Given the description of an element on the screen output the (x, y) to click on. 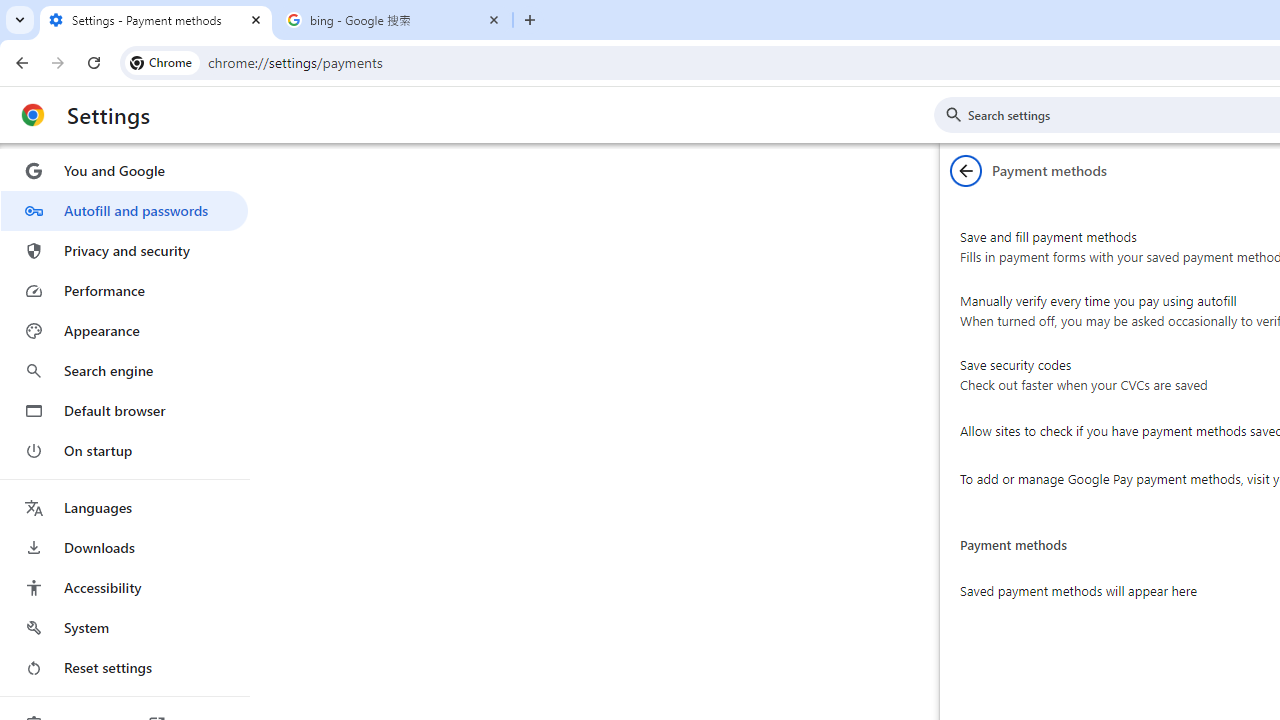
Privacy and security (124, 250)
Search engine (124, 370)
Appearance (124, 331)
Reset settings (124, 668)
